Given the description of an element on the screen output the (x, y) to click on. 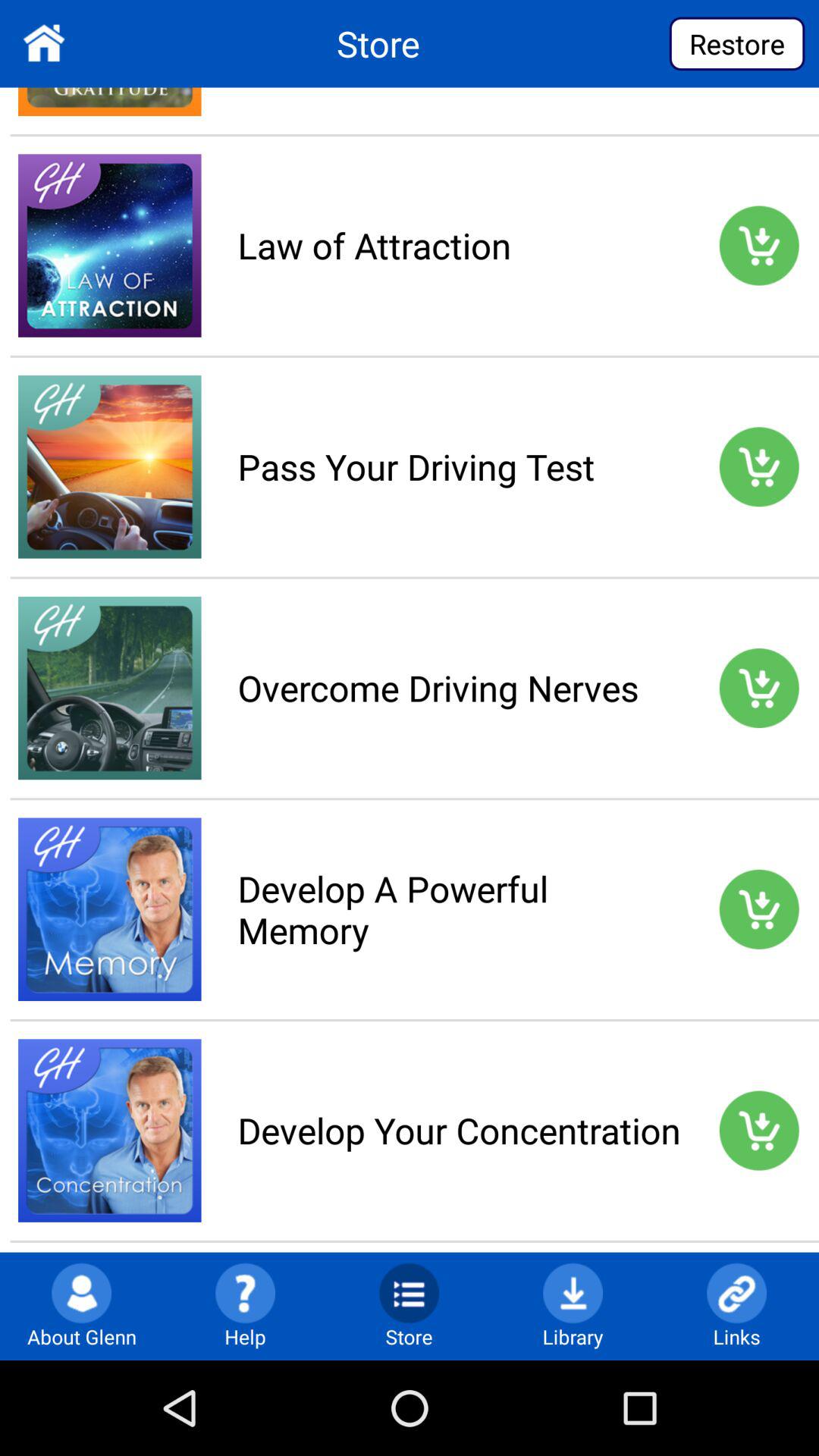
jump until the develop a powerful (459, 909)
